Given the description of an element on the screen output the (x, y) to click on. 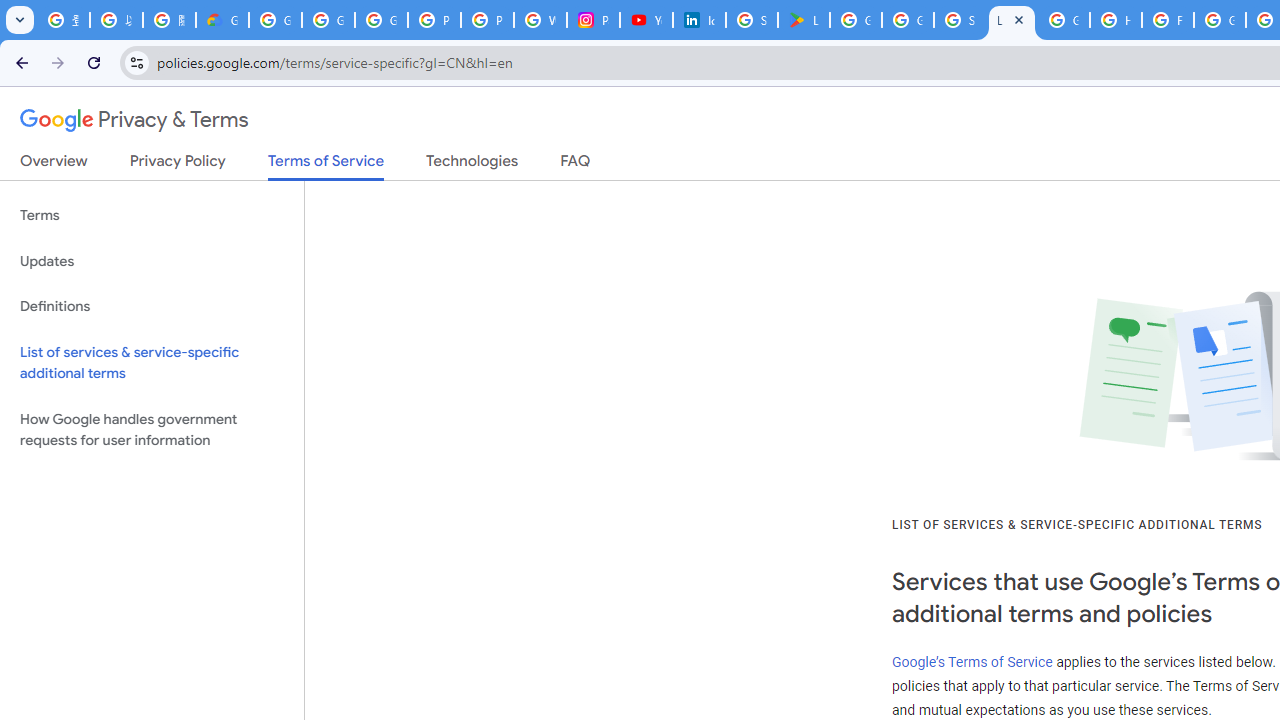
Terms (152, 215)
How Google handles government requests for user information (152, 429)
Identity verification via Persona | LinkedIn Help (699, 20)
Search tabs (20, 20)
Sign in - Google Accounts (959, 20)
Terms of Service (326, 166)
Back (19, 62)
Overview (54, 165)
Definitions (152, 306)
Privacy Help Center - Policies Help (434, 20)
